Given the description of an element on the screen output the (x, y) to click on. 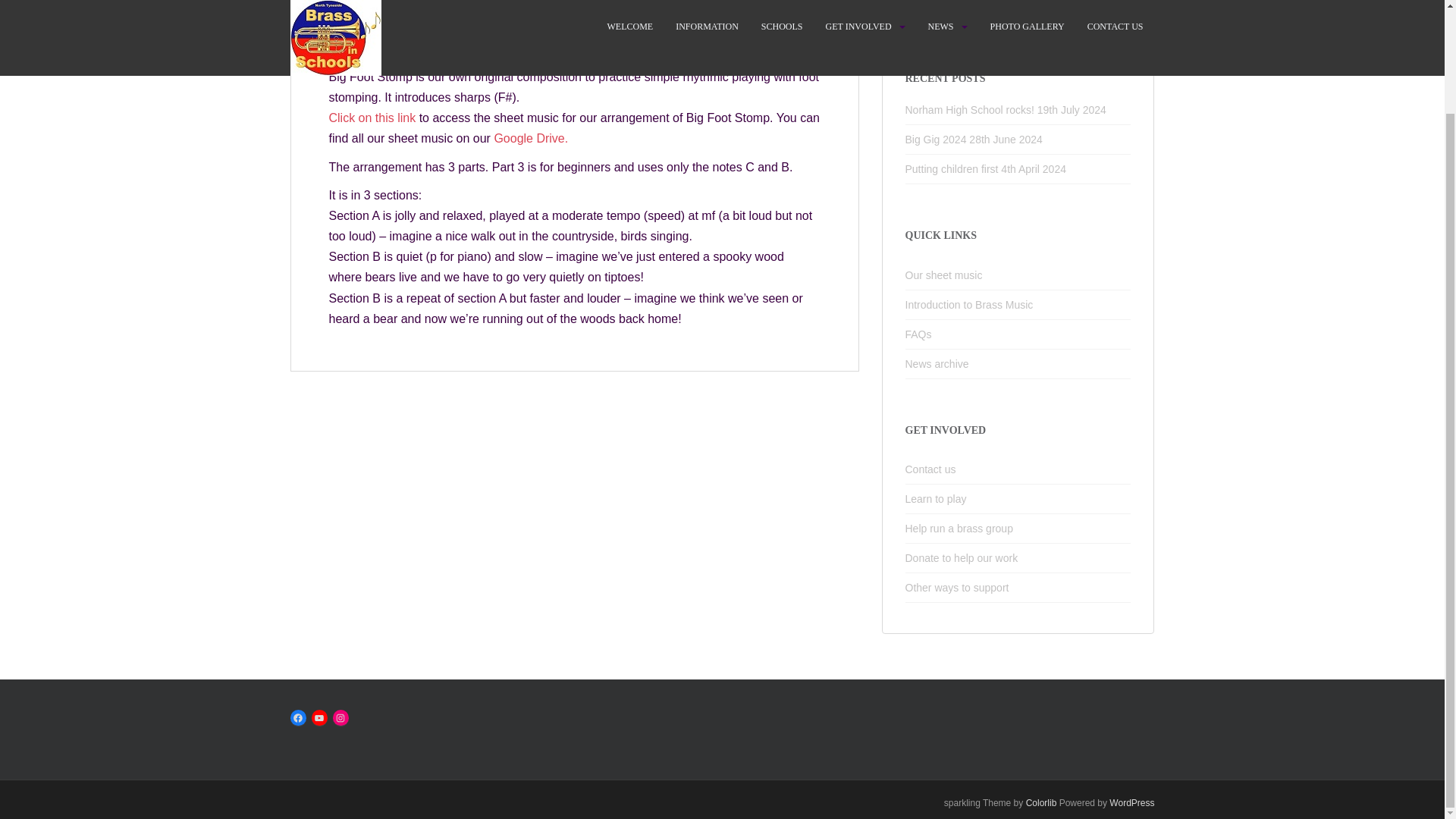
WordPress (1131, 802)
Search (1118, 22)
Colorlib (1041, 802)
Facebook (297, 717)
YouTube (318, 717)
Learn to play (1018, 499)
Donate to help our work (1018, 558)
Instagram (339, 717)
Norham High School rocks! (969, 110)
Contact us (1018, 469)
Google Drive. (530, 137)
Click on this link (372, 117)
Big Gig 2024 (935, 139)
Help run a brass group (1018, 528)
News archive (1018, 364)
